Given the description of an element on the screen output the (x, y) to click on. 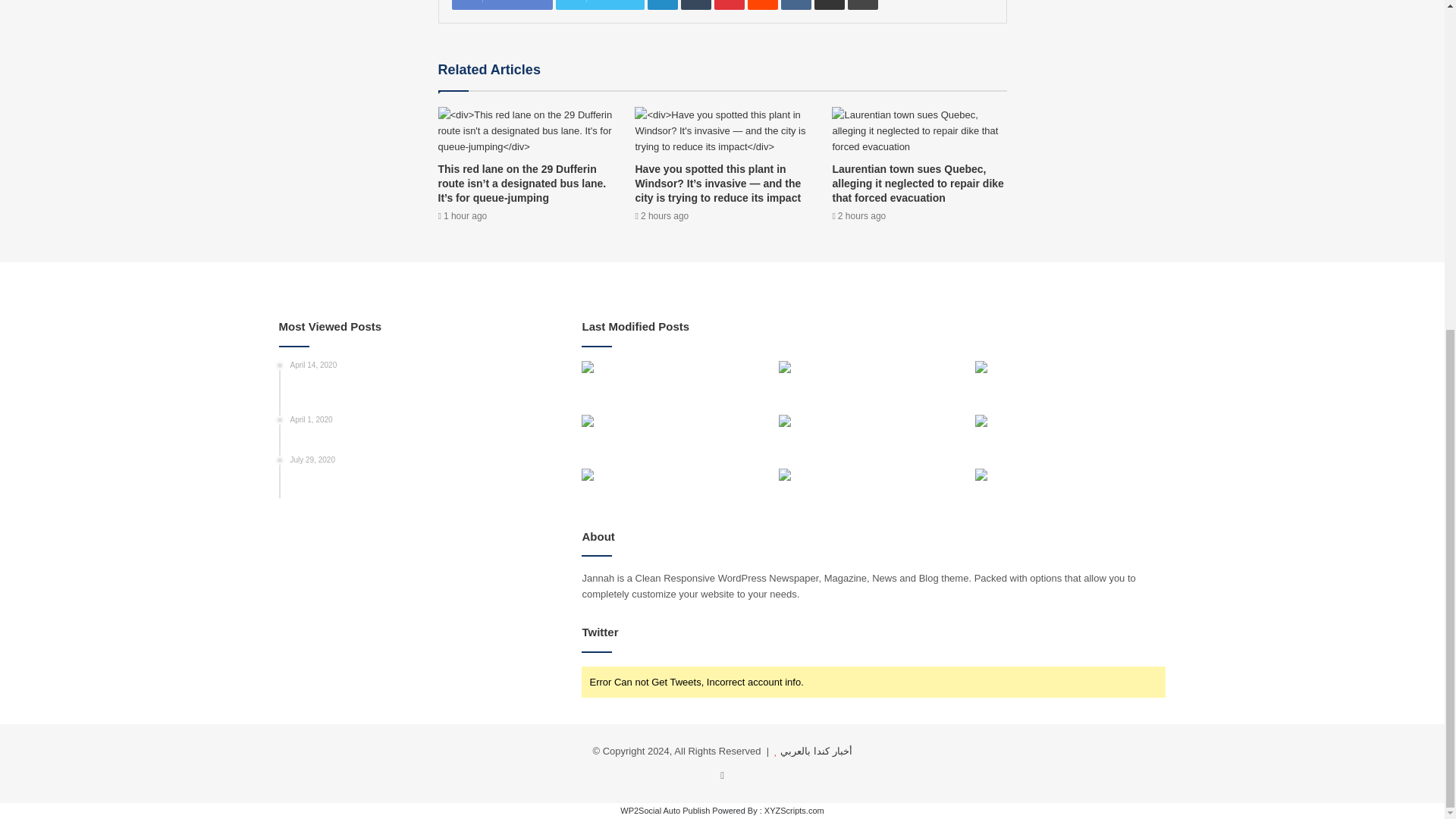
Print (862, 4)
Twitter (599, 4)
Pinterest (729, 4)
Reddit (762, 4)
Share via Email (828, 4)
LinkedIn (662, 4)
Facebook (502, 4)
